Given the description of an element on the screen output the (x, y) to click on. 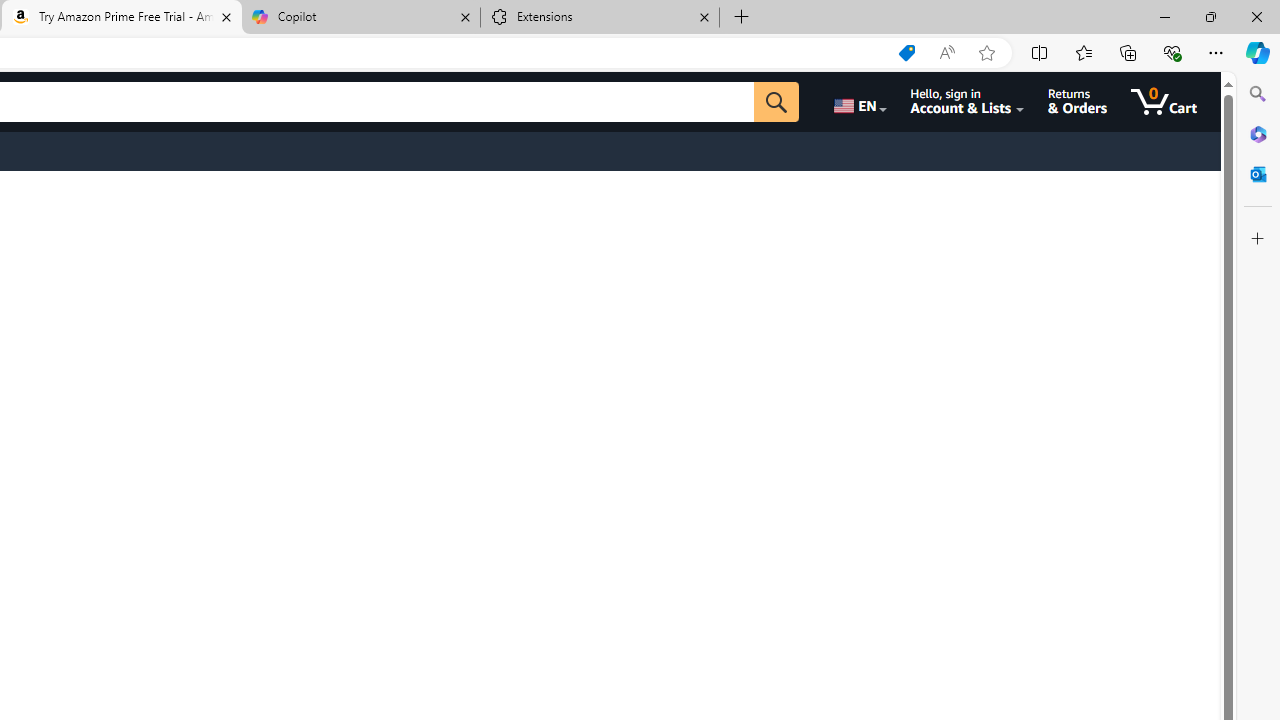
Choose a language for shopping. (858, 101)
Hello, sign in Account & Lists (967, 101)
Returns & Orders (1077, 101)
